Given the description of an element on the screen output the (x, y) to click on. 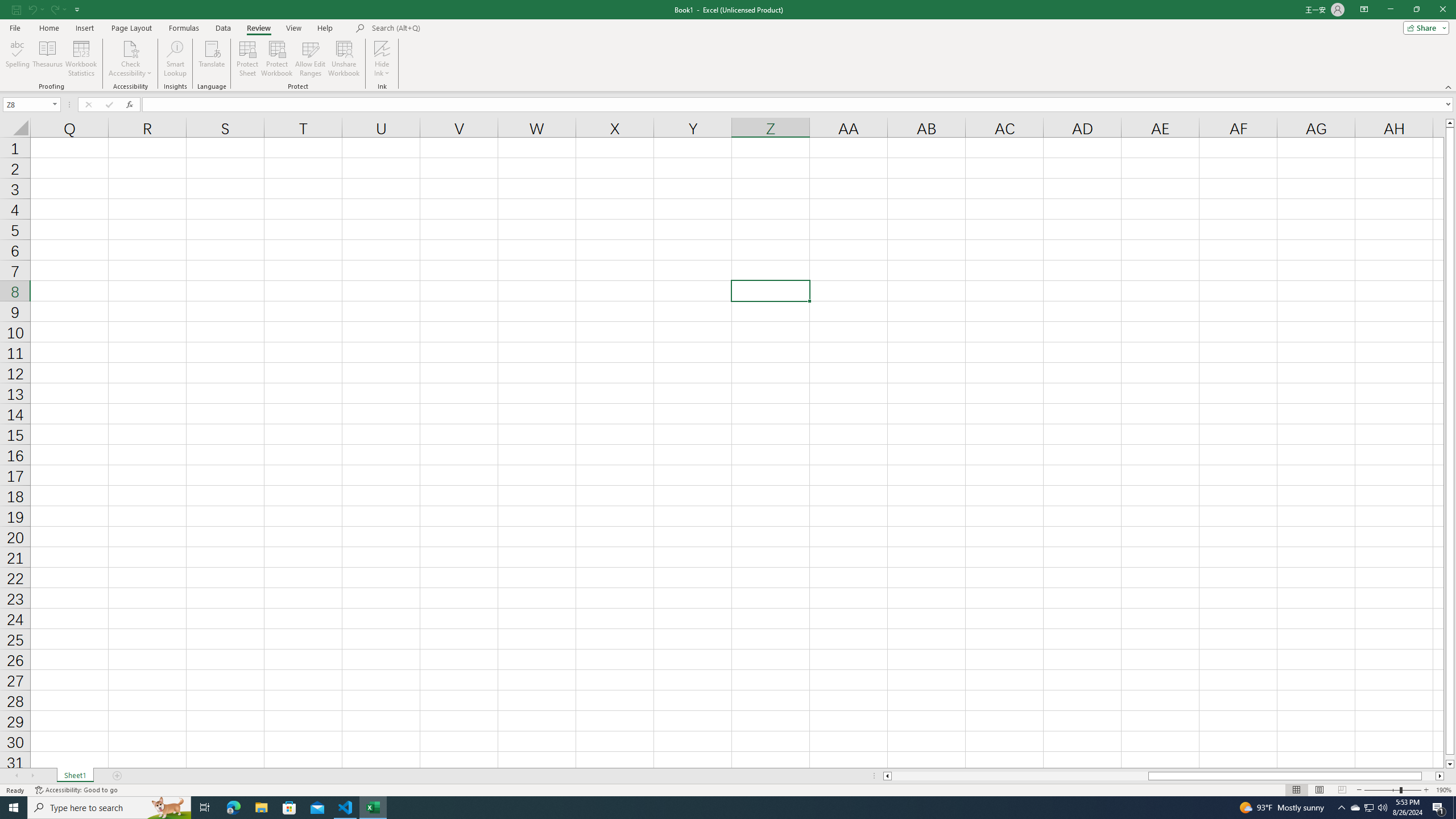
Page left (1019, 775)
Save (16, 9)
Unshare Workbook (344, 58)
Restore Down (1416, 9)
Protect Workbook... (277, 58)
Scroll Right (32, 775)
Page Break Preview (1342, 790)
Home (48, 28)
Review (258, 28)
Hide Ink (381, 48)
Normal (1296, 790)
Zoom Out (1381, 790)
Name Box (27, 104)
Help (325, 28)
Column right (1440, 775)
